Given the description of an element on the screen output the (x, y) to click on. 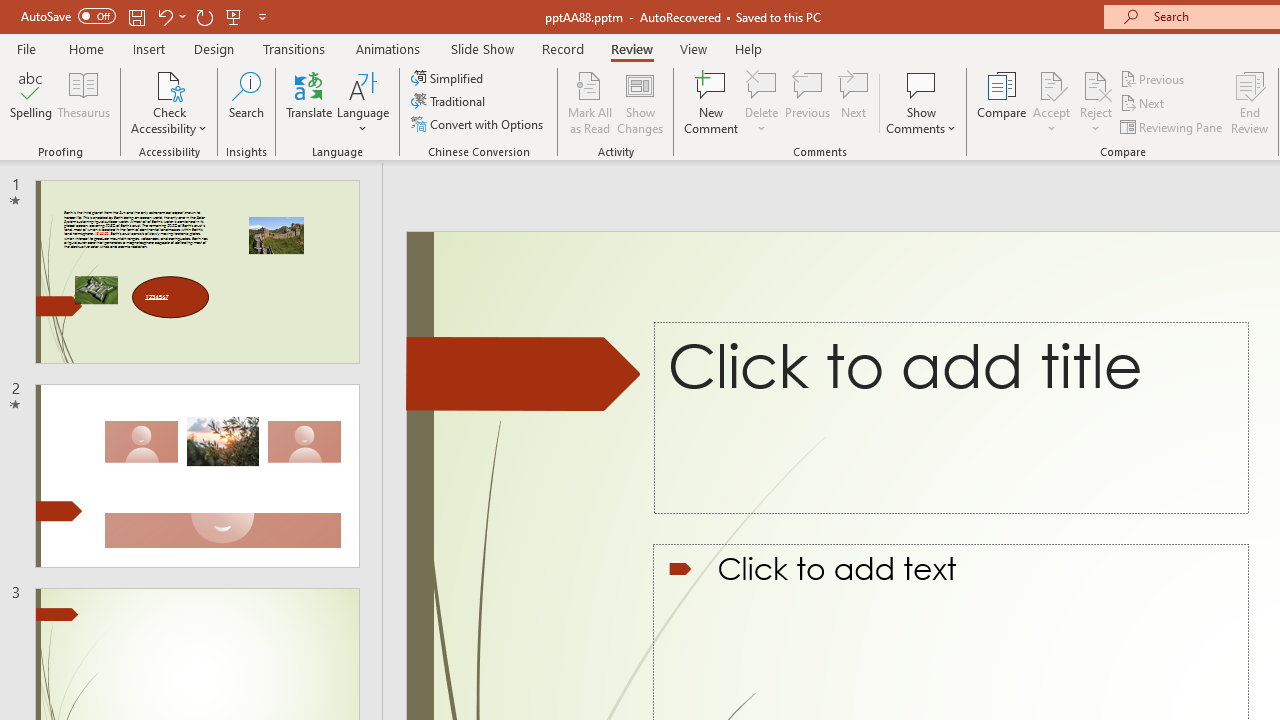
Next (1144, 103)
Thesaurus... (83, 102)
Traditional (449, 101)
Convert with Options... (479, 124)
Accept Change (1051, 84)
Compare (1002, 102)
Reject (1096, 102)
Delete (762, 84)
